Given the description of an element on the screen output the (x, y) to click on. 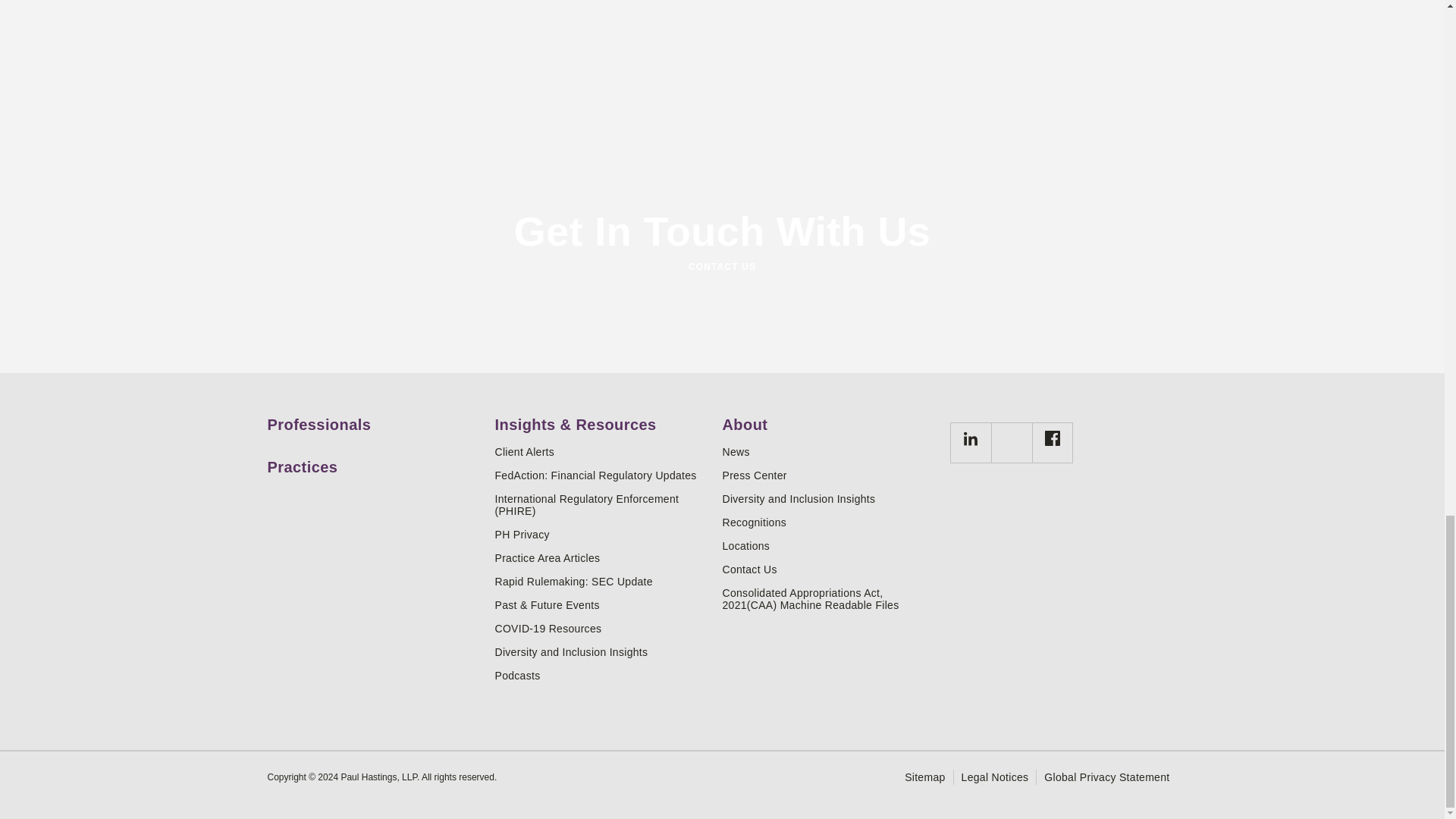
Practices (374, 460)
Practice Area Articles (602, 558)
PH Privacy (602, 534)
Locations (829, 545)
Recognitions (829, 522)
CB6A0679-7CD4-47AB-9AF9-079521319001Created with sketchtool. (969, 442)
Professionals (374, 418)
COVID-19 Resources (602, 628)
CB6A0679-7CD4-47AB-9AF9-079521319001Created with sketchtool. (969, 438)
Press Center (829, 475)
CONTACT US (721, 266)
Rapid Rulemaking: SEC Update (602, 581)
News (829, 451)
Contact Us (829, 569)
About (829, 418)
